Given the description of an element on the screen output the (x, y) to click on. 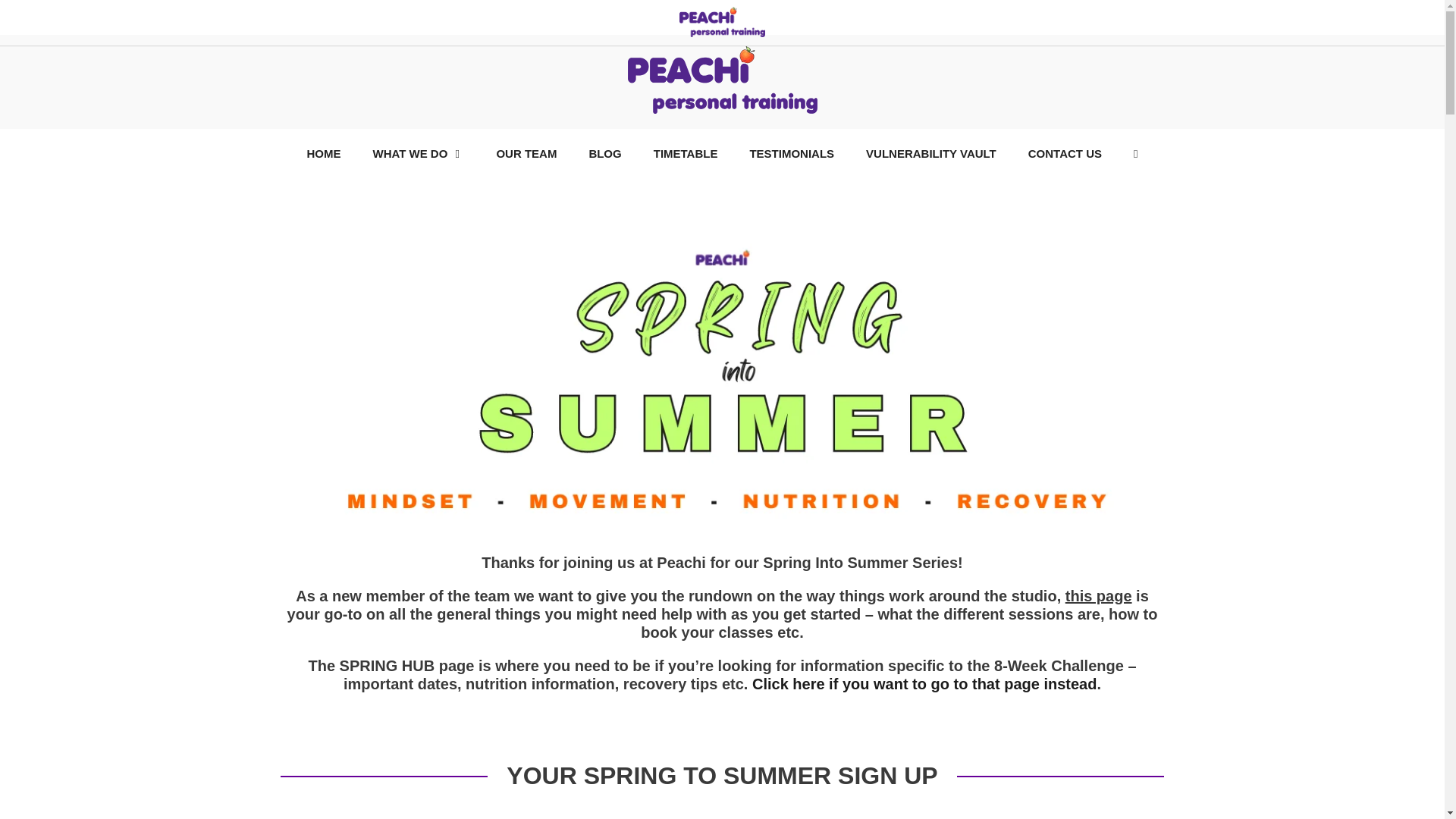
CONTACT US (1064, 153)
TESTIMONIALS (791, 153)
OUR TEAM (526, 153)
TIMETABLE (685, 153)
BLOG (604, 153)
VULNERABILITY VAULT (930, 153)
HOME (323, 153)
WHAT WE DO (418, 153)
